Given the description of an element on the screen output the (x, y) to click on. 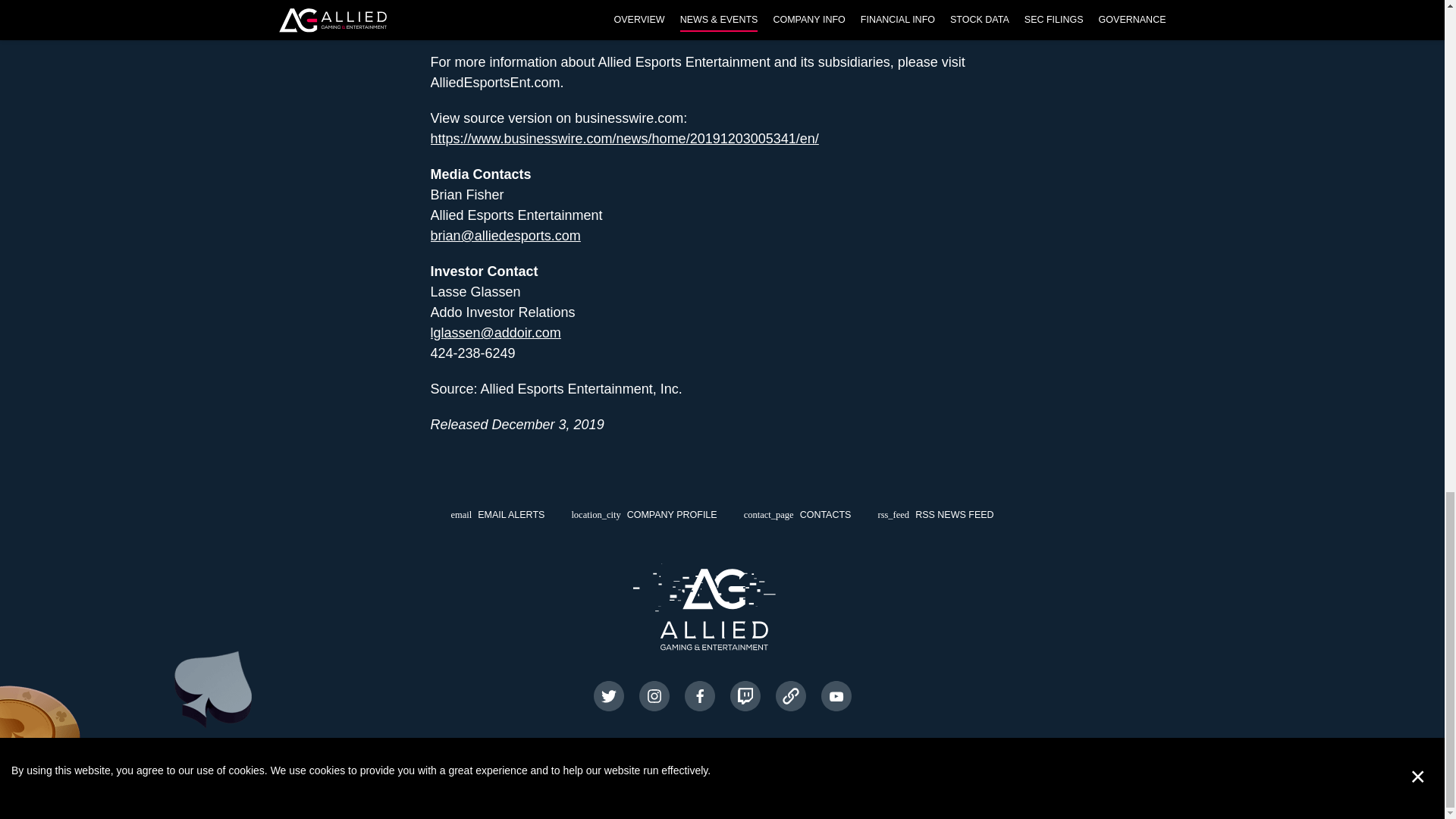
Opens in a new window (744, 695)
Opens in a new window (699, 695)
Opens in a new window (607, 695)
Opens in a new window (653, 695)
Opens in a new window (789, 695)
Opens in a new window (934, 514)
Opens in a new window (835, 695)
